Given the description of an element on the screen output the (x, y) to click on. 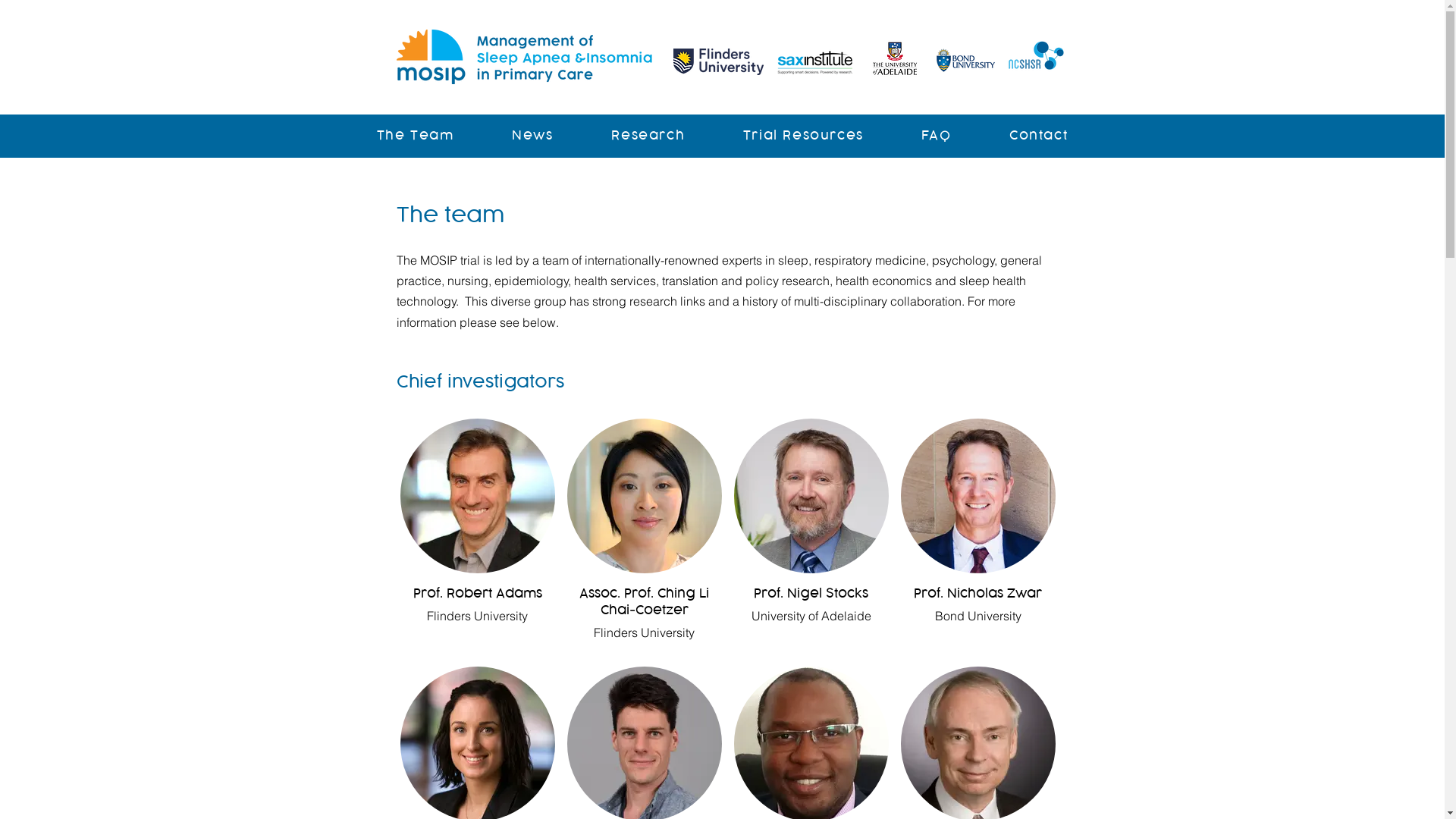
News Element type: text (532, 135)
Contact Element type: text (1038, 135)
